Given the description of an element on the screen output the (x, y) to click on. 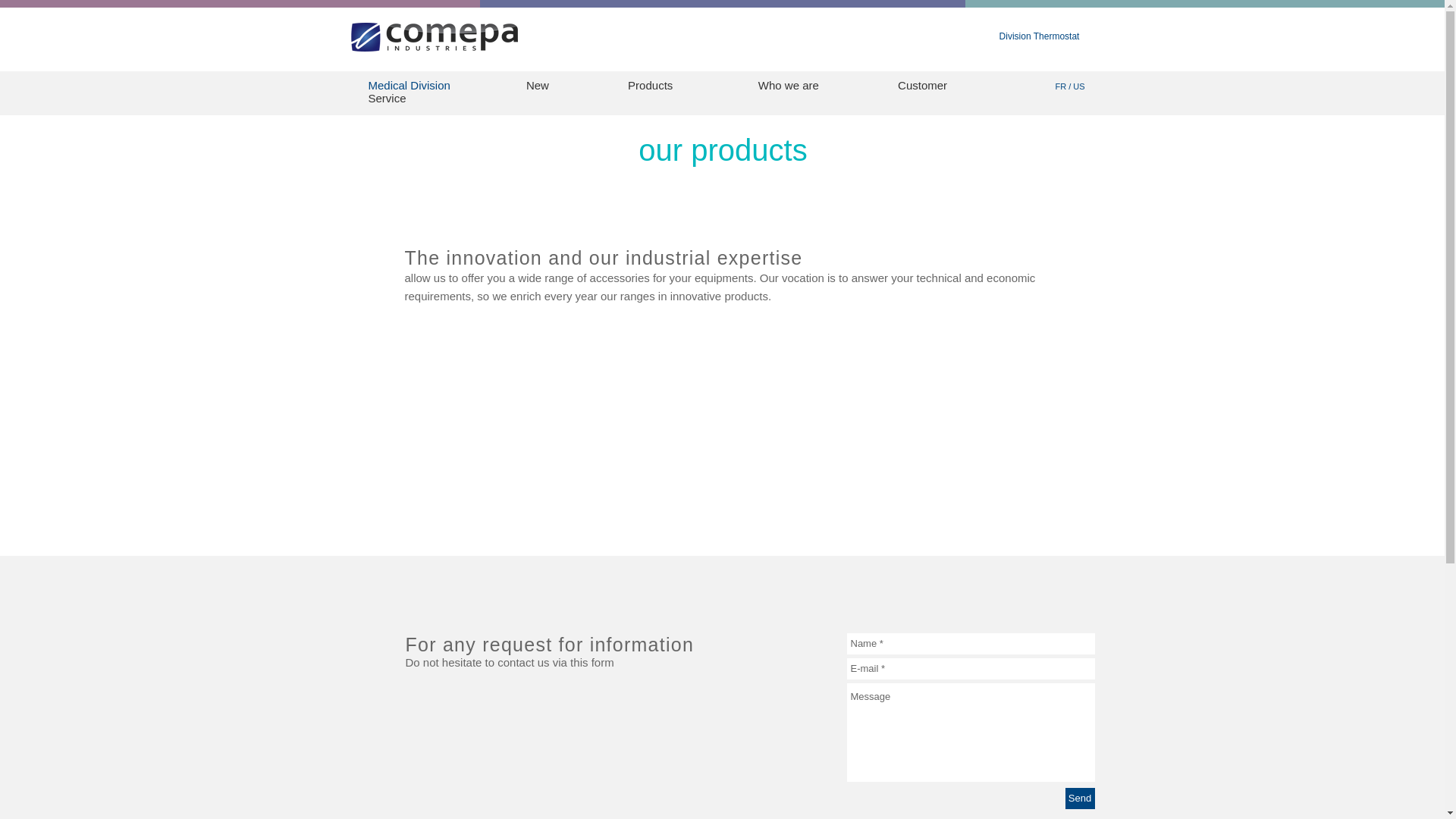
Products (649, 84)
Medical Division (408, 84)
New (536, 84)
Customer Service (657, 91)
FR (1061, 85)
Who we are  (790, 84)
Send (1079, 798)
US (1078, 85)
Division Thermostat (1039, 36)
